Given the description of an element on the screen output the (x, y) to click on. 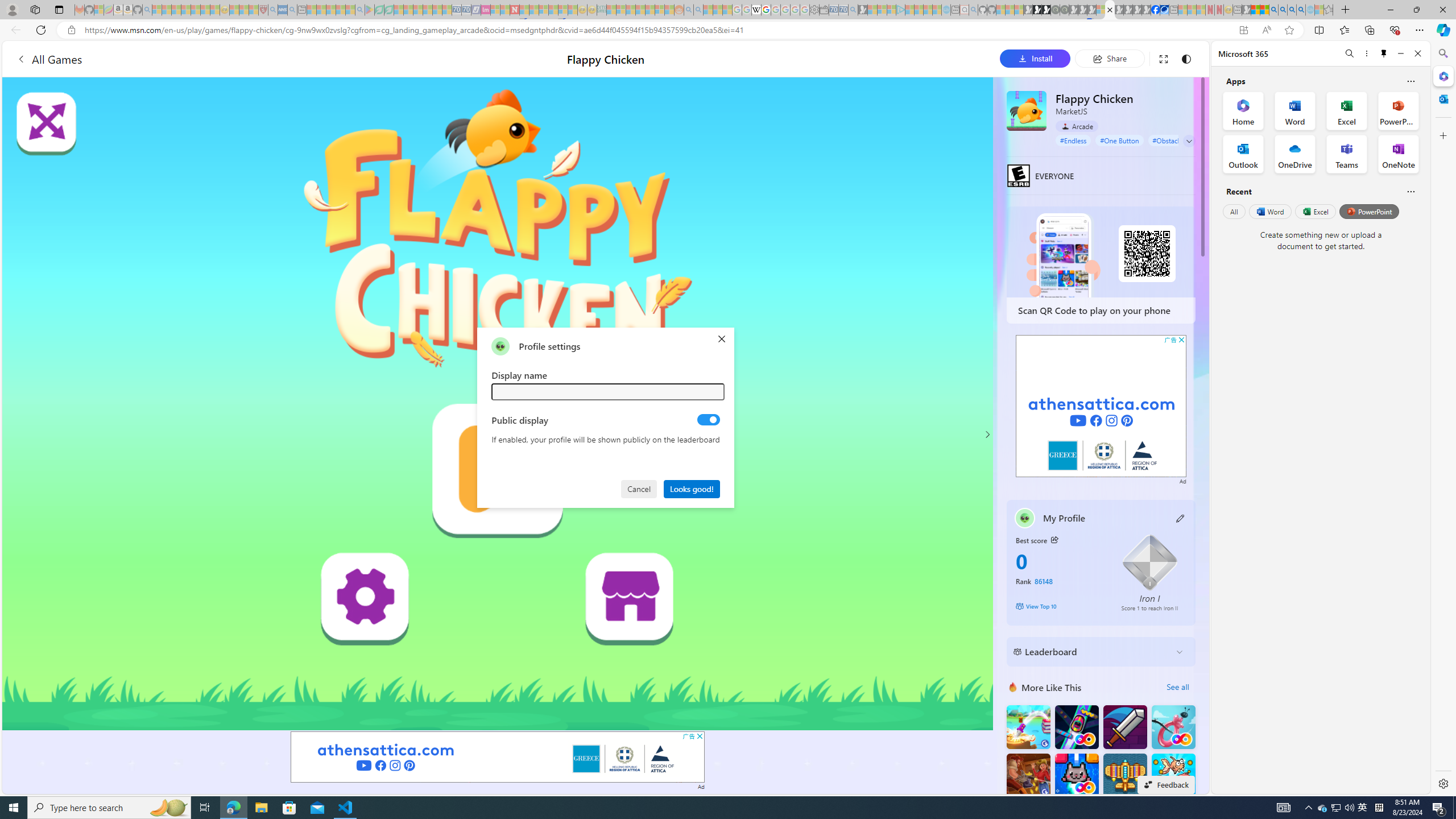
14 Common Myths Debunked By Scientific Facts - Sleeping (533, 9)
Cheap Car Rentals - Save70.com - Sleeping (843, 9)
Atlantic Sky Hunter (1124, 775)
Close Customize pane (1442, 135)
Flappy Chicken (1026, 110)
#One Button (1119, 140)
Terms of Use Agreement - Sleeping (378, 9)
Is this helpful? (1410, 191)
